Given the description of an element on the screen output the (x, y) to click on. 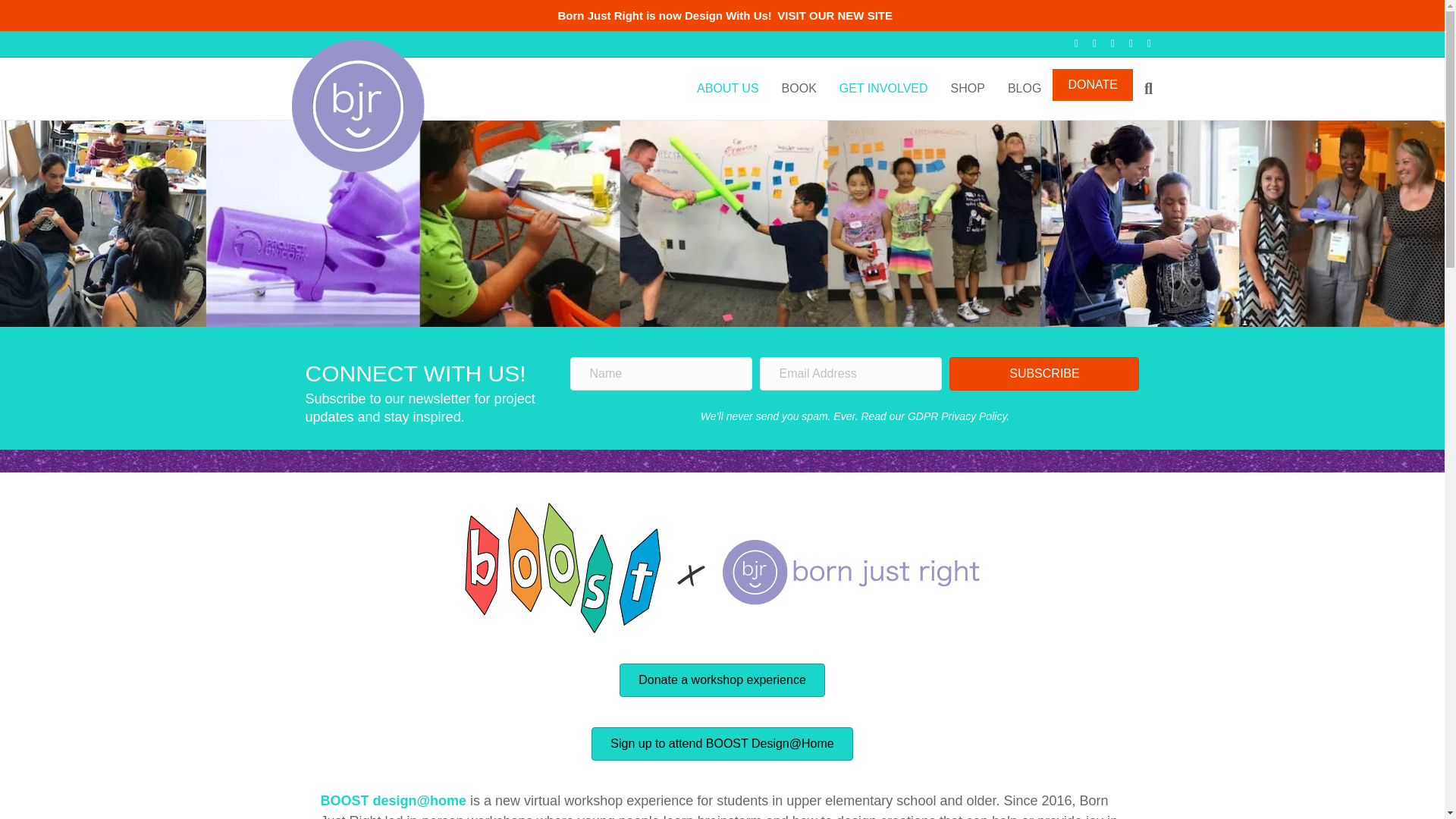
Facebook (1068, 42)
Twitter (1087, 42)
GDPR Privacy Policy (956, 416)
BLOG (1023, 88)
Vimeo (1105, 42)
GET INVOLVED (883, 88)
Youtube (1123, 42)
SHOP (967, 88)
SUBSCRIBE (1043, 373)
Instagram (1141, 42)
